Given the description of an element on the screen output the (x, y) to click on. 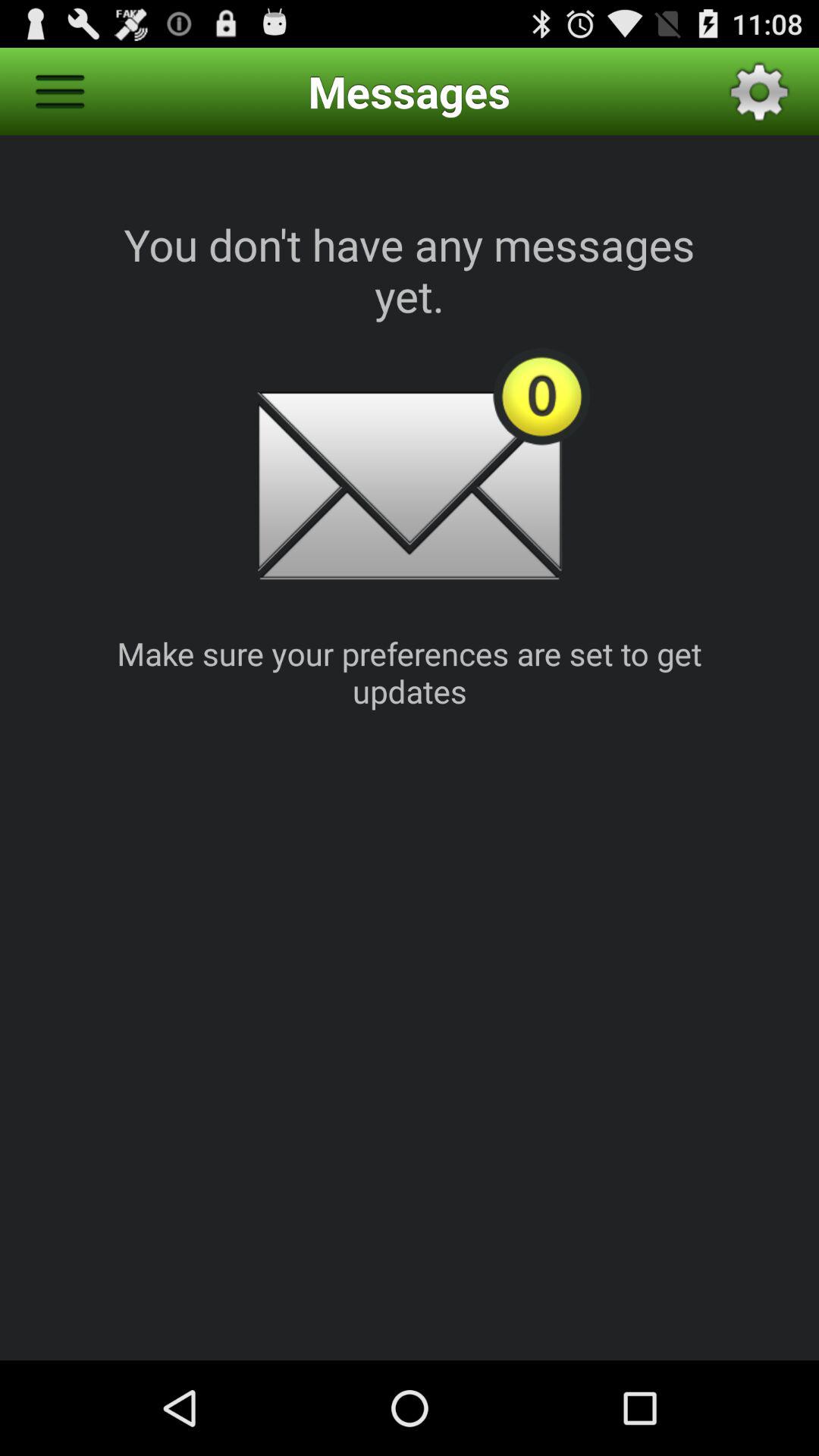
turn on the icon next to messages (759, 91)
